Given the description of an element on the screen output the (x, y) to click on. 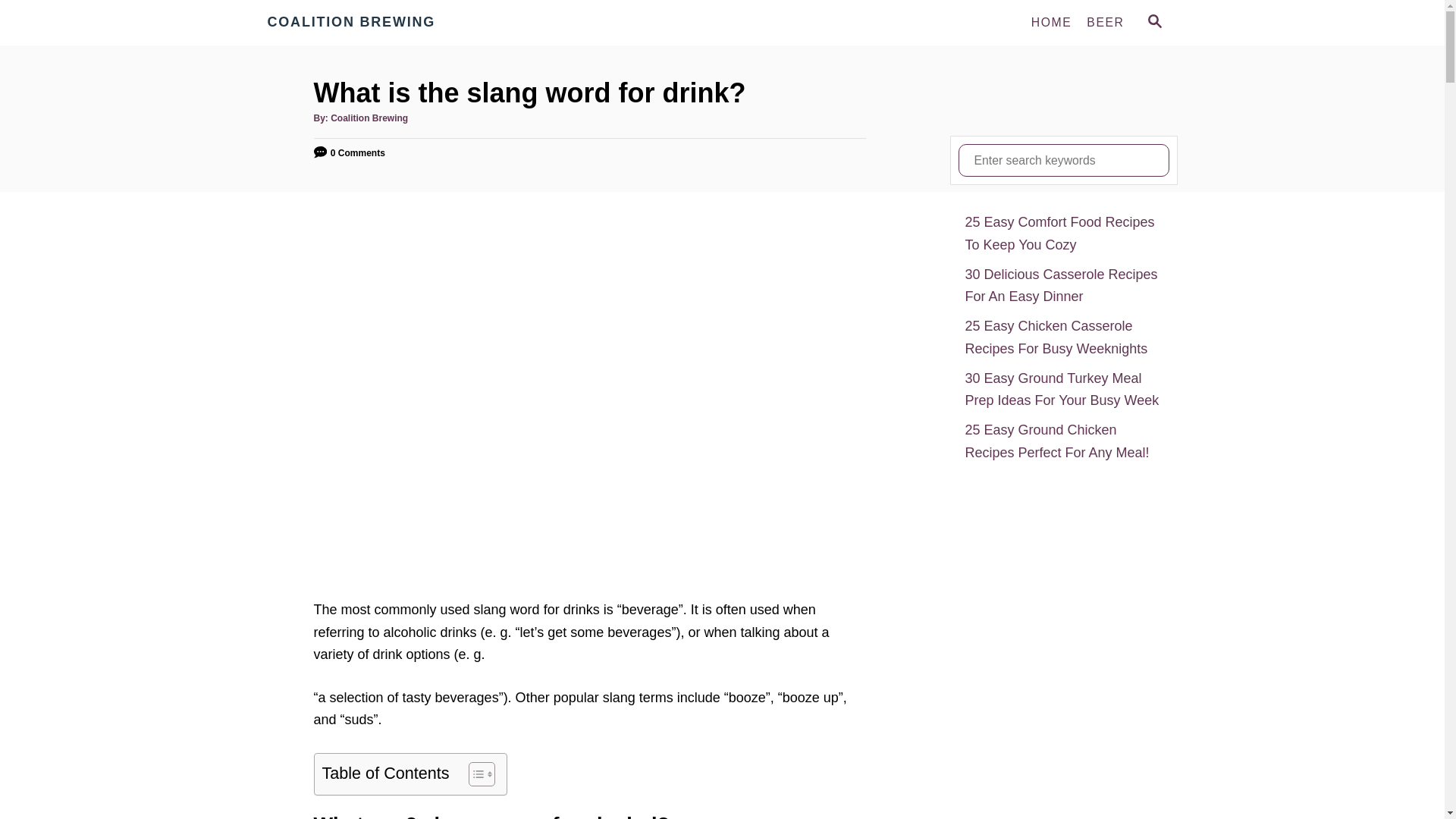
25 Easy Comfort Food Recipes To Keep You Cozy (1062, 234)
HOME (1051, 22)
25 Easy Chicken Casserole Recipes For Busy Weeknights (1062, 337)
25 Easy Ground Chicken Recipes Perfect For Any Meal! (1062, 441)
Coalition Brewing (368, 118)
30 Easy Ground Turkey Meal Prep Ideas For Your Busy Week (1062, 389)
Search (22, 22)
Coalition Brewing (403, 22)
30 Delicious Casserole Recipes For An Easy Dinner (1062, 286)
SEARCH (1153, 22)
BEER (1104, 22)
COALITION BREWING (403, 22)
